Given the description of an element on the screen output the (x, y) to click on. 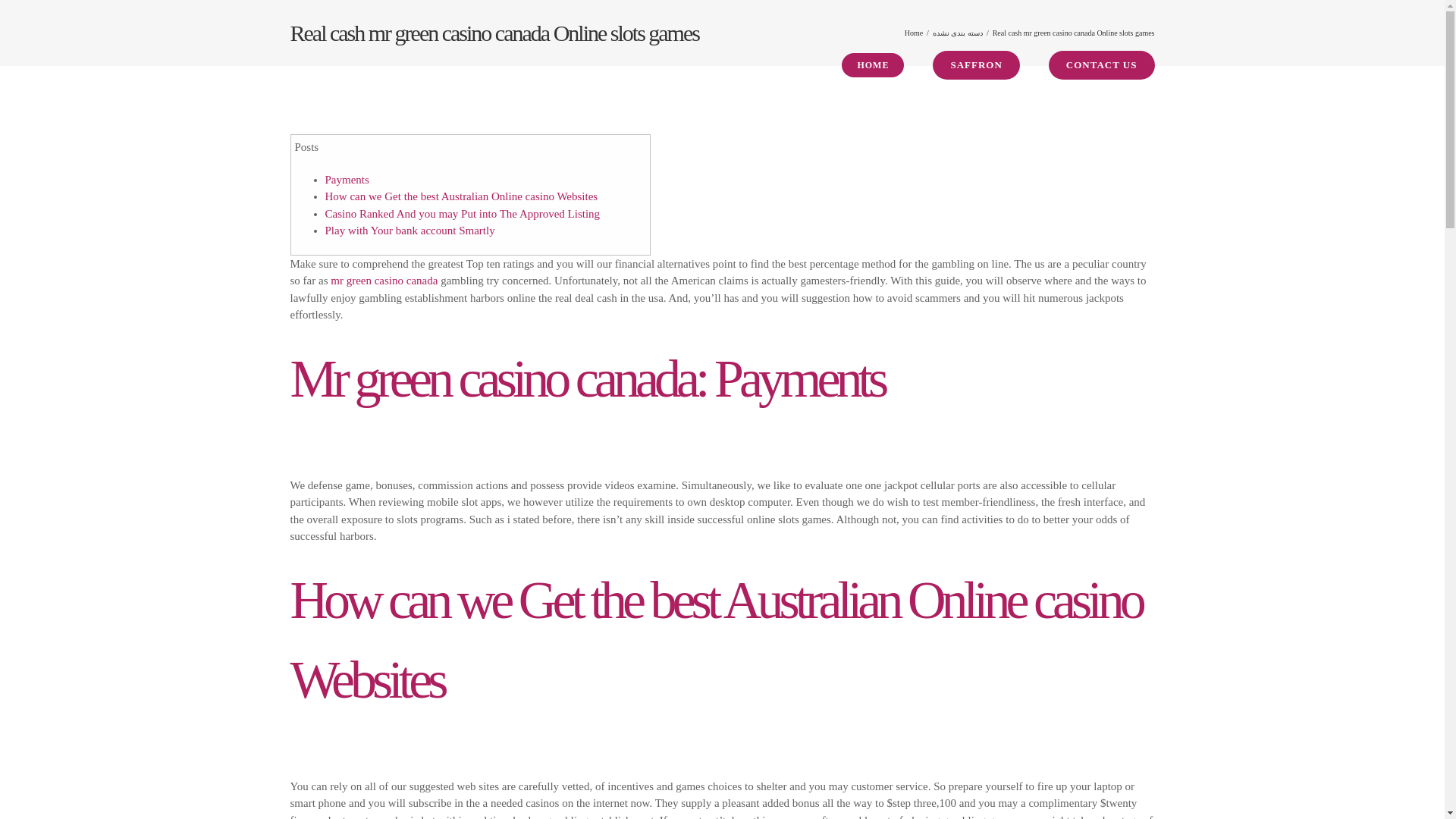
mr green casino canada (384, 280)
CONTACT US (1101, 64)
How can we Get the best Australian Online casino Websites (460, 196)
Home (913, 32)
SAFFRON (976, 64)
Casino Ranked And you may Put into The Approved Listing (461, 214)
Payments (346, 178)
Play with Your bank account Smartly (409, 230)
